Given the description of an element on the screen output the (x, y) to click on. 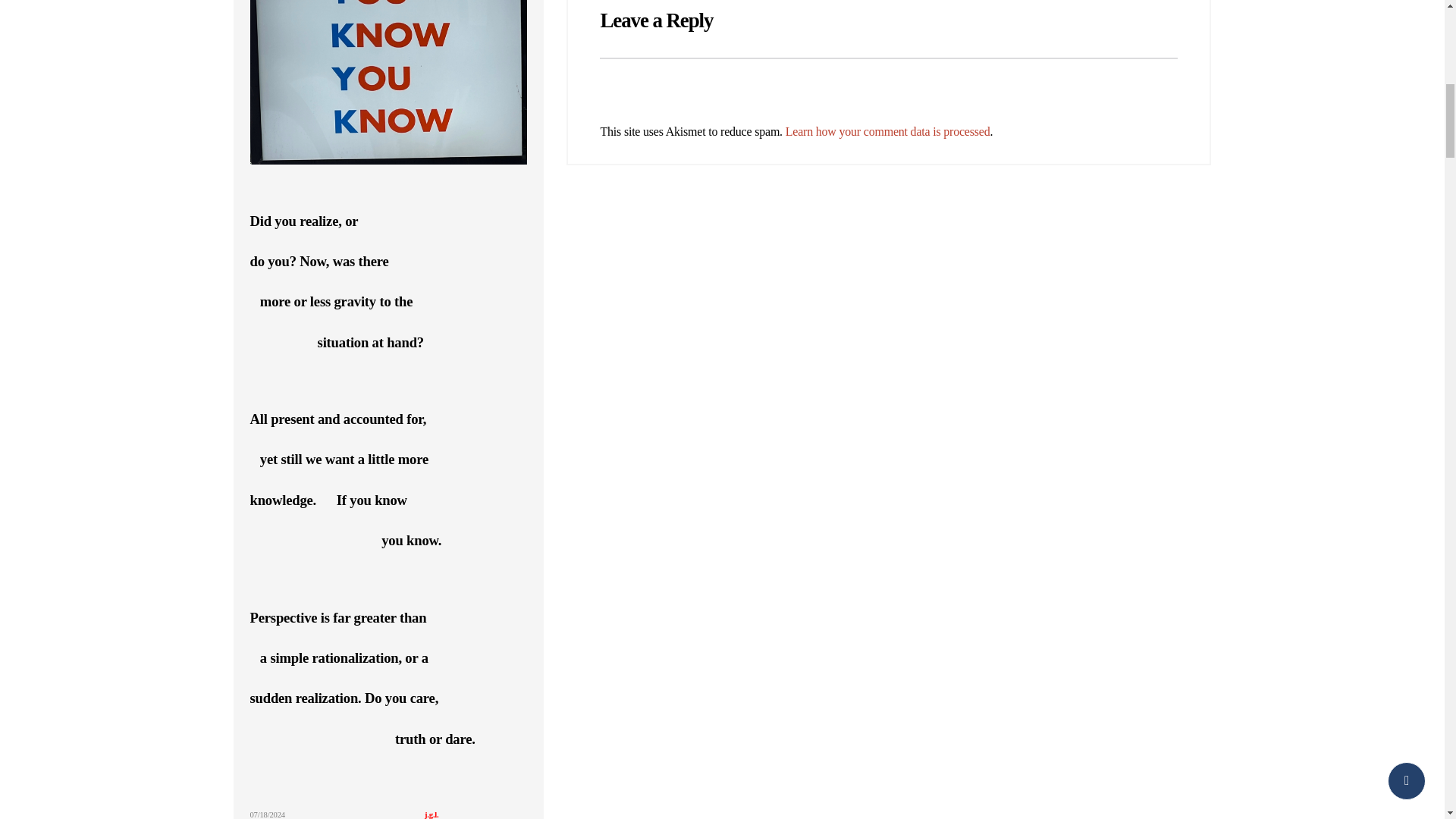
Comment Form (888, 89)
